Given the description of an element on the screen output the (x, y) to click on. 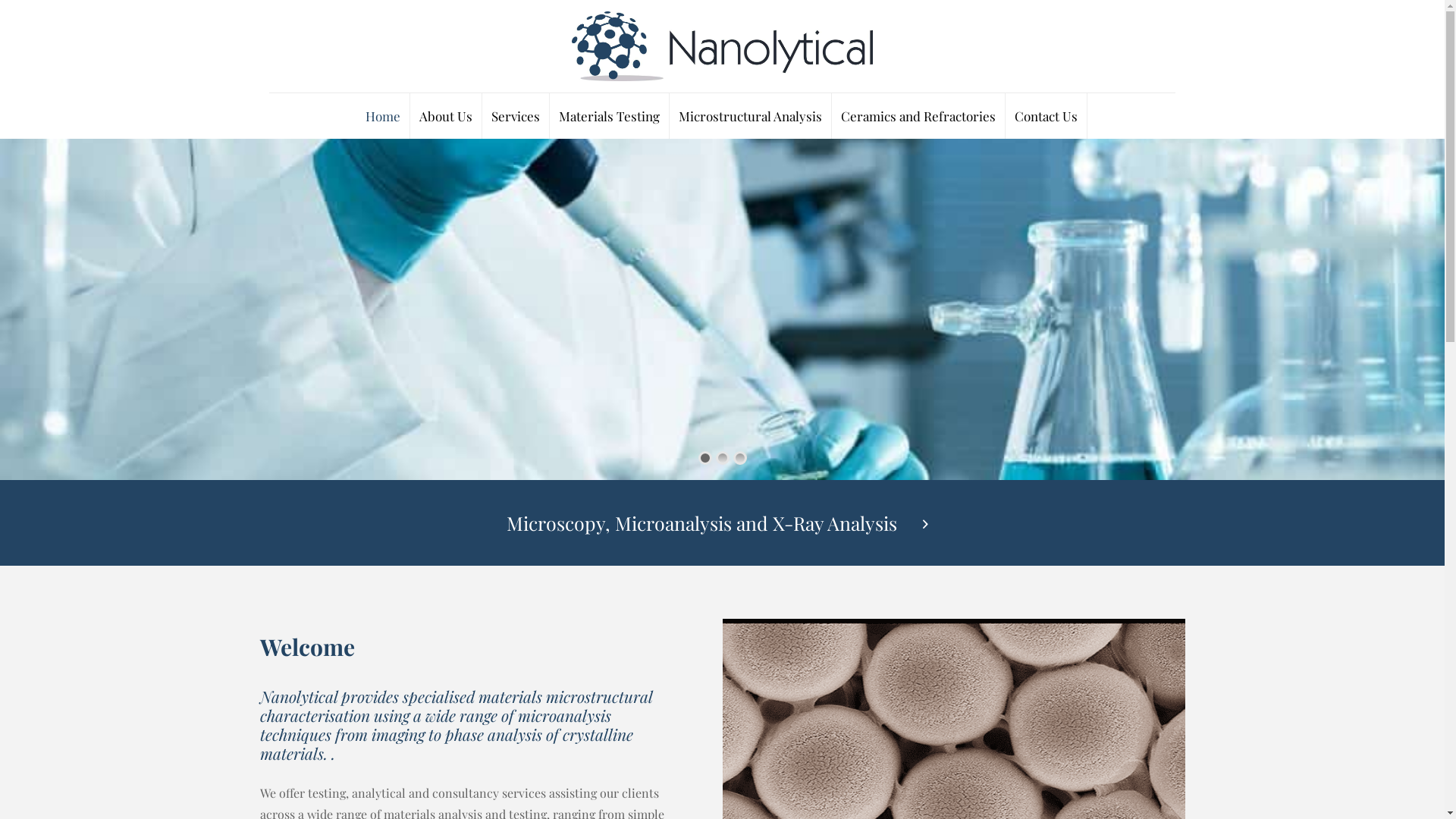
Microstructural Analysis Element type: text (750, 115)
About Us Element type: text (446, 115)
Microscopy, Microanalysis and X-Ray Analysis Element type: text (722, 522)
Ceramics and Refractories Element type: text (918, 115)
Contact Us Element type: text (1046, 115)
Nanolytical - Analytical and Consultancy Services Element type: hover (722, 46)
Services Element type: text (515, 115)
Home Element type: text (383, 115)
Materials Testing Element type: text (609, 115)
